Given the description of an element on the screen output the (x, y) to click on. 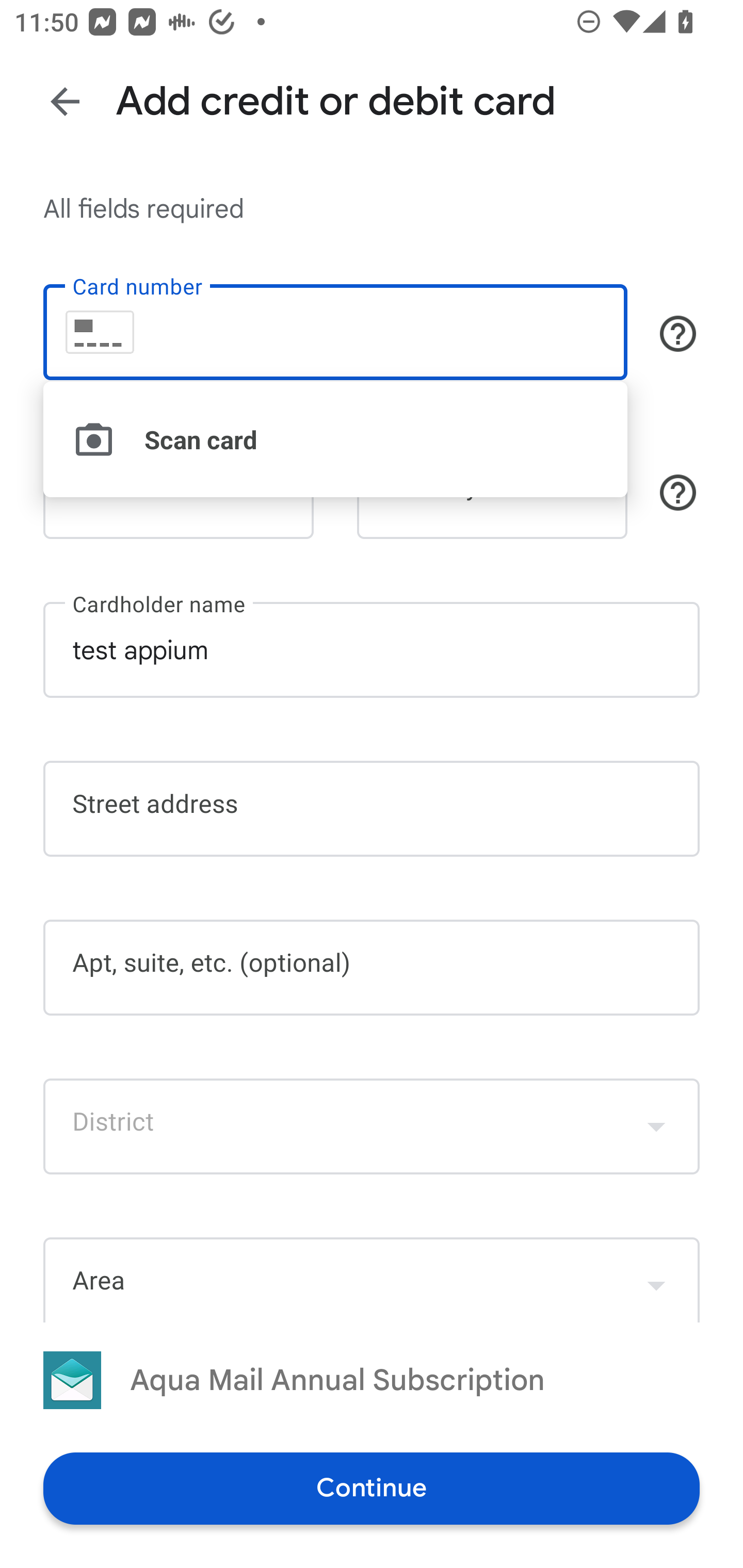
Back (64, 101)
Card number (335, 331)
Button, shows cards that are accepted for payment (677, 333)
Security code help (677, 492)
test appium (371, 649)
Street address (371, 808)
Apt, suite, etc. (optional) (371, 968)
District (371, 1126)
Show dropdown menu (655, 1126)
Area (371, 1279)
Show dropdown menu (655, 1281)
Continue (371, 1487)
